Given the description of an element on the screen output the (x, y) to click on. 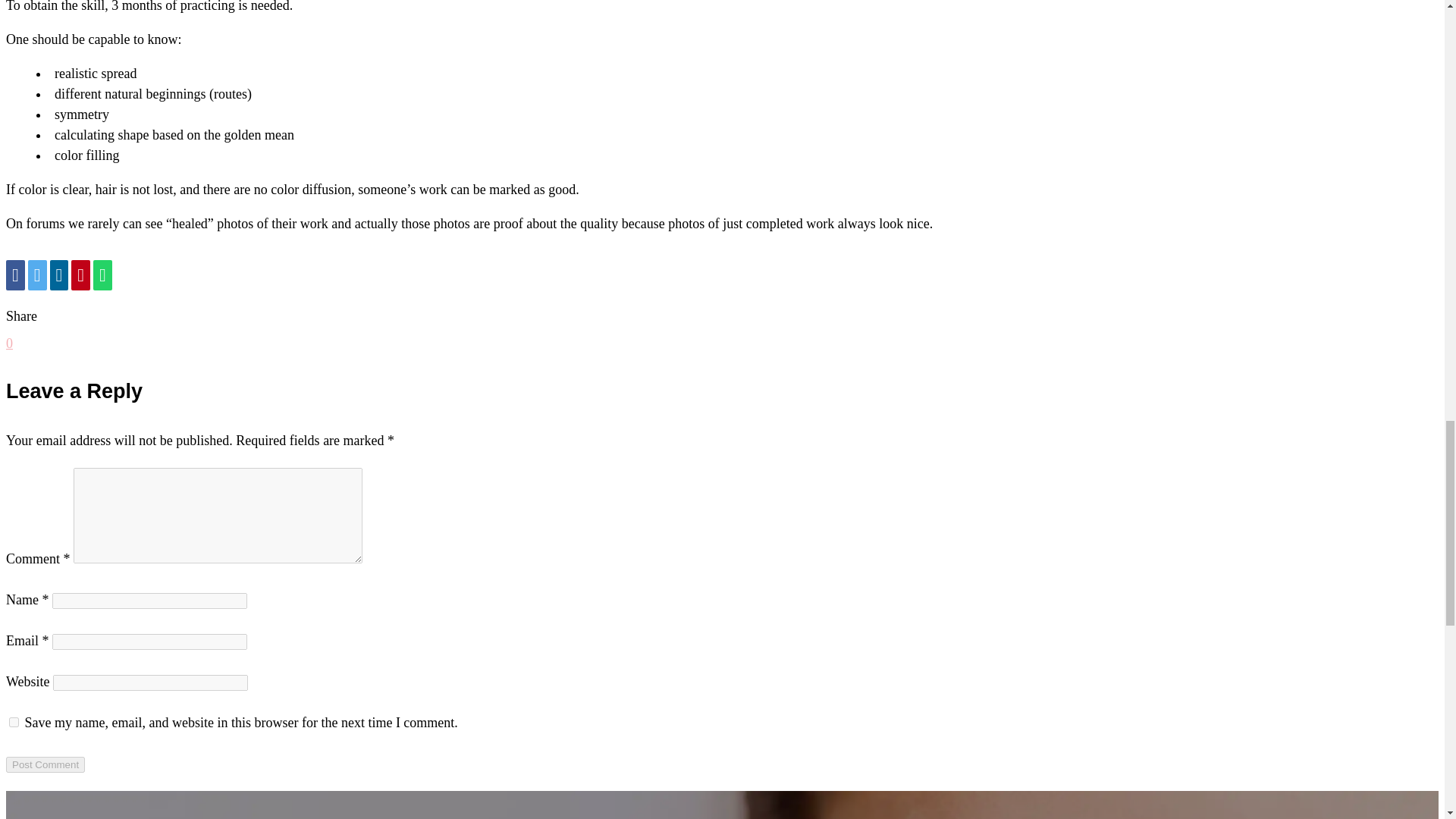
Post Comment (44, 764)
yes (13, 722)
